Given the description of an element on the screen output the (x, y) to click on. 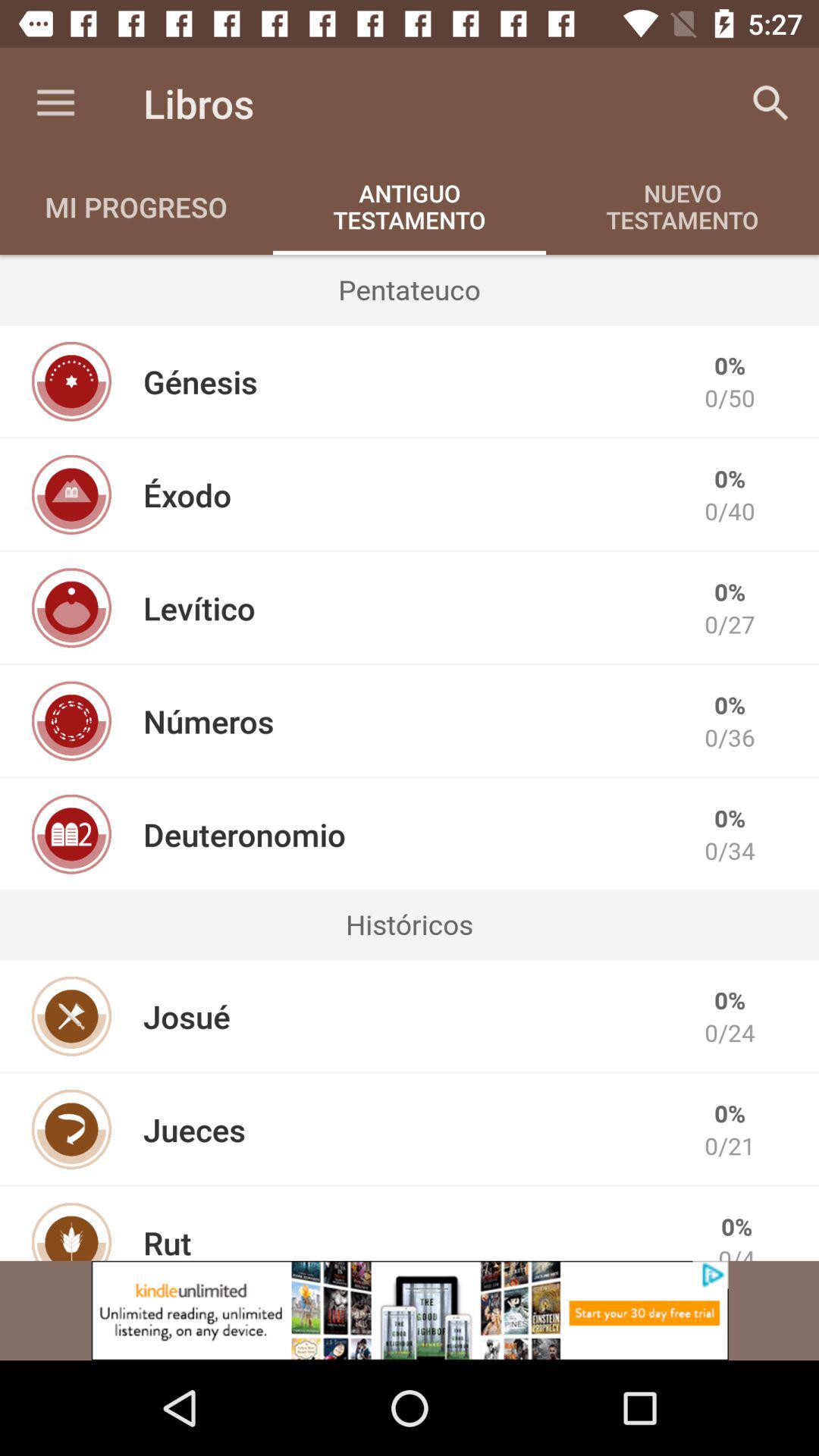
select icon to the left of the 0/4 icon (167, 1240)
